Given the description of an element on the screen output the (x, y) to click on. 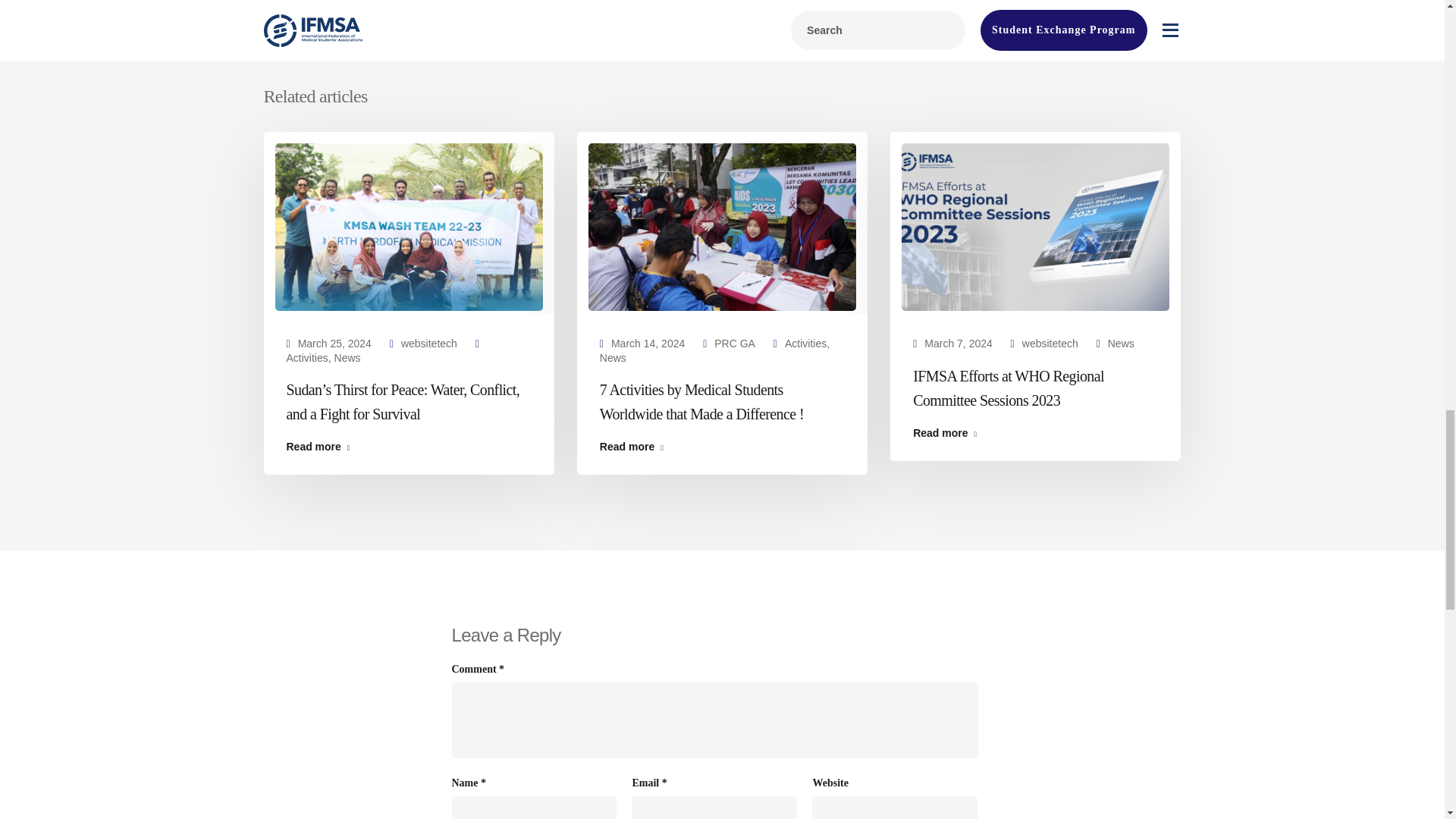
IFMSA Efforts at WHO Regional Committee Sessions 2023 (1035, 226)
Posts by PRC GA (734, 343)
Posts by websitetech (1050, 343)
Posts by websitetech (429, 343)
